Given the description of an element on the screen output the (x, y) to click on. 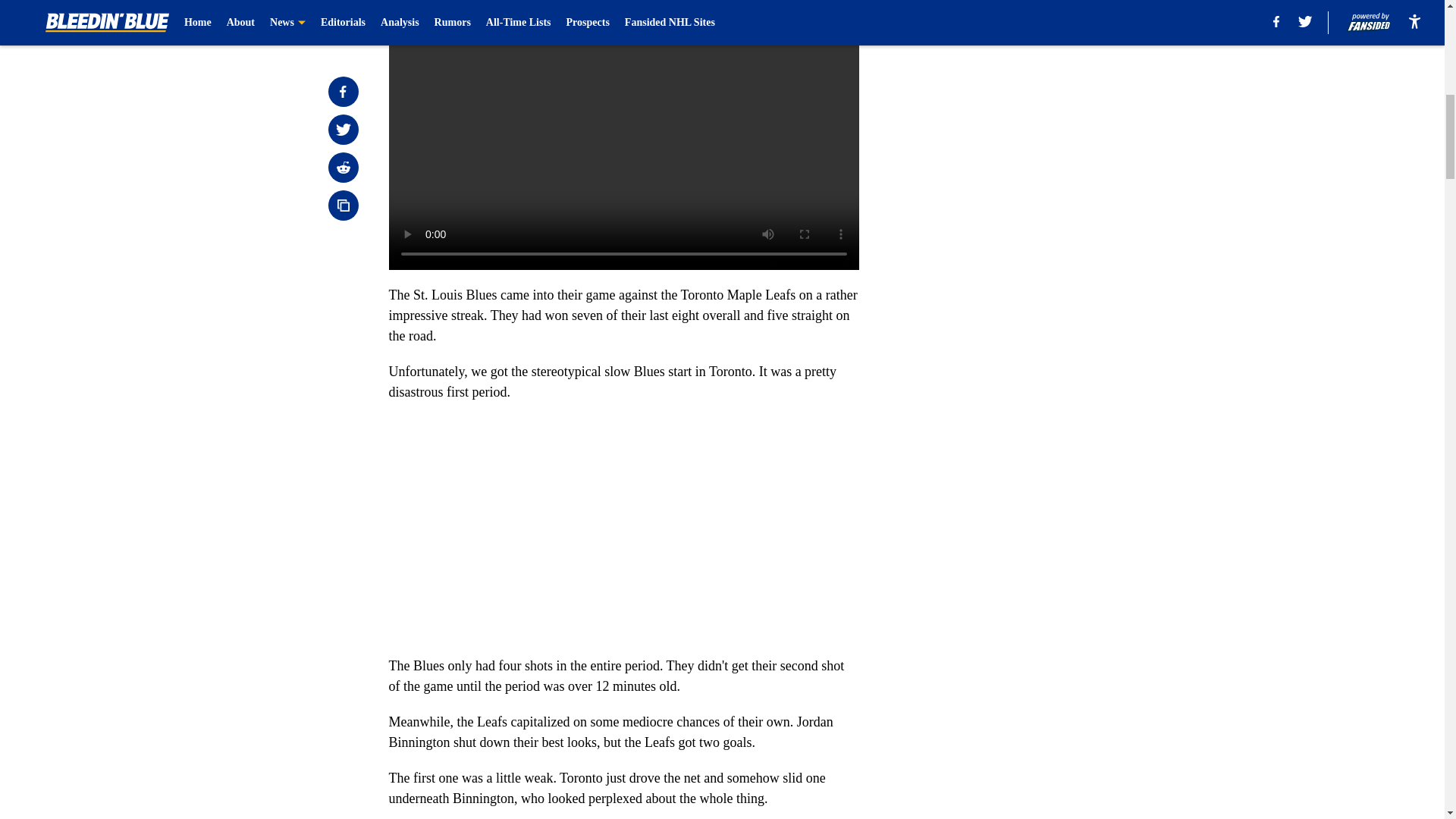
3rd party ad content (1047, 320)
3rd party ad content (1047, 100)
